Given the description of an element on the screen output the (x, y) to click on. 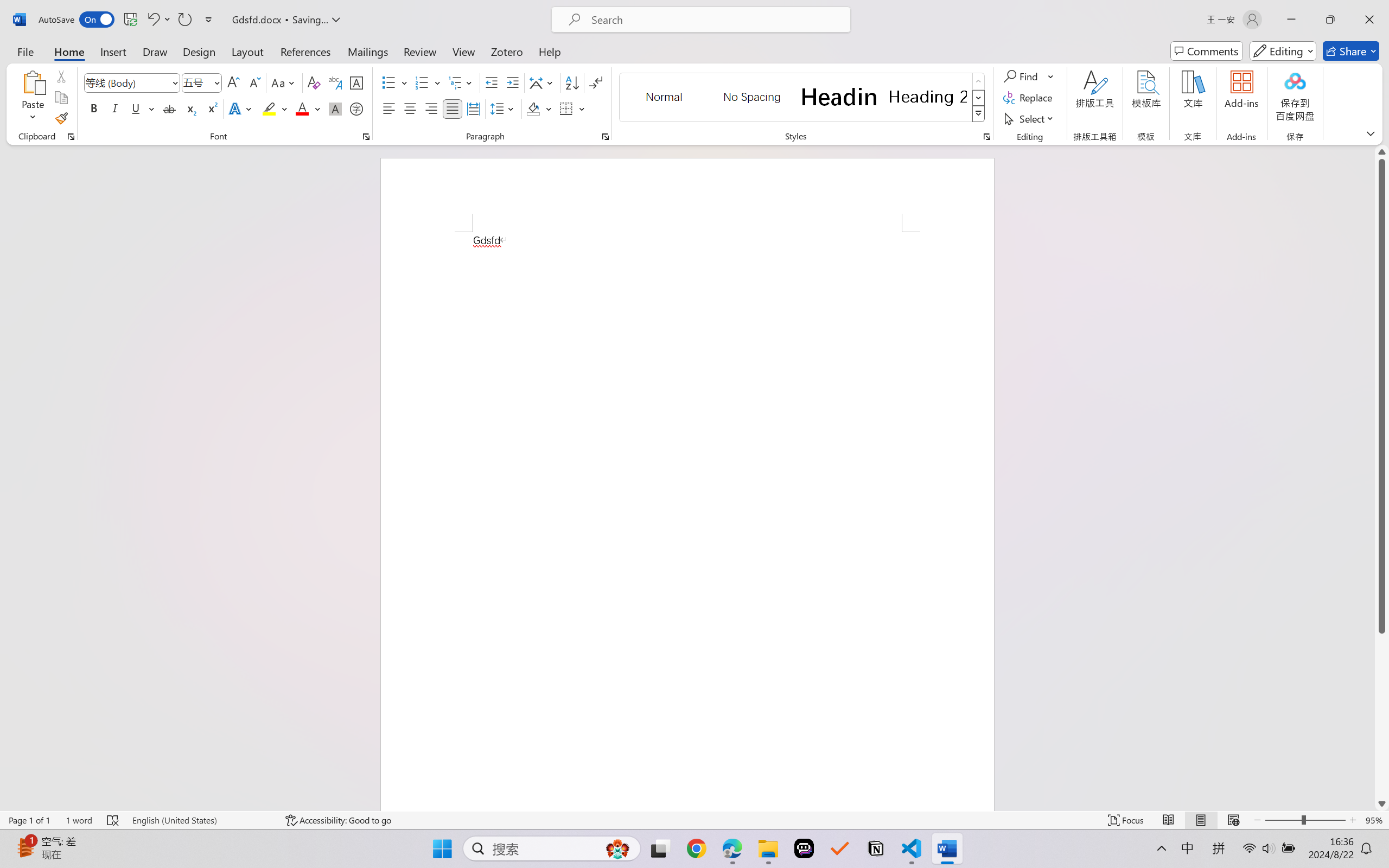
Styles... (986, 136)
Asian Layout (542, 82)
Bold (94, 108)
Align Left (388, 108)
Distributed (473, 108)
Change Case (284, 82)
Text Effects and Typography (241, 108)
Undo Style (152, 19)
Shading (539, 108)
